Given the description of an element on the screen output the (x, y) to click on. 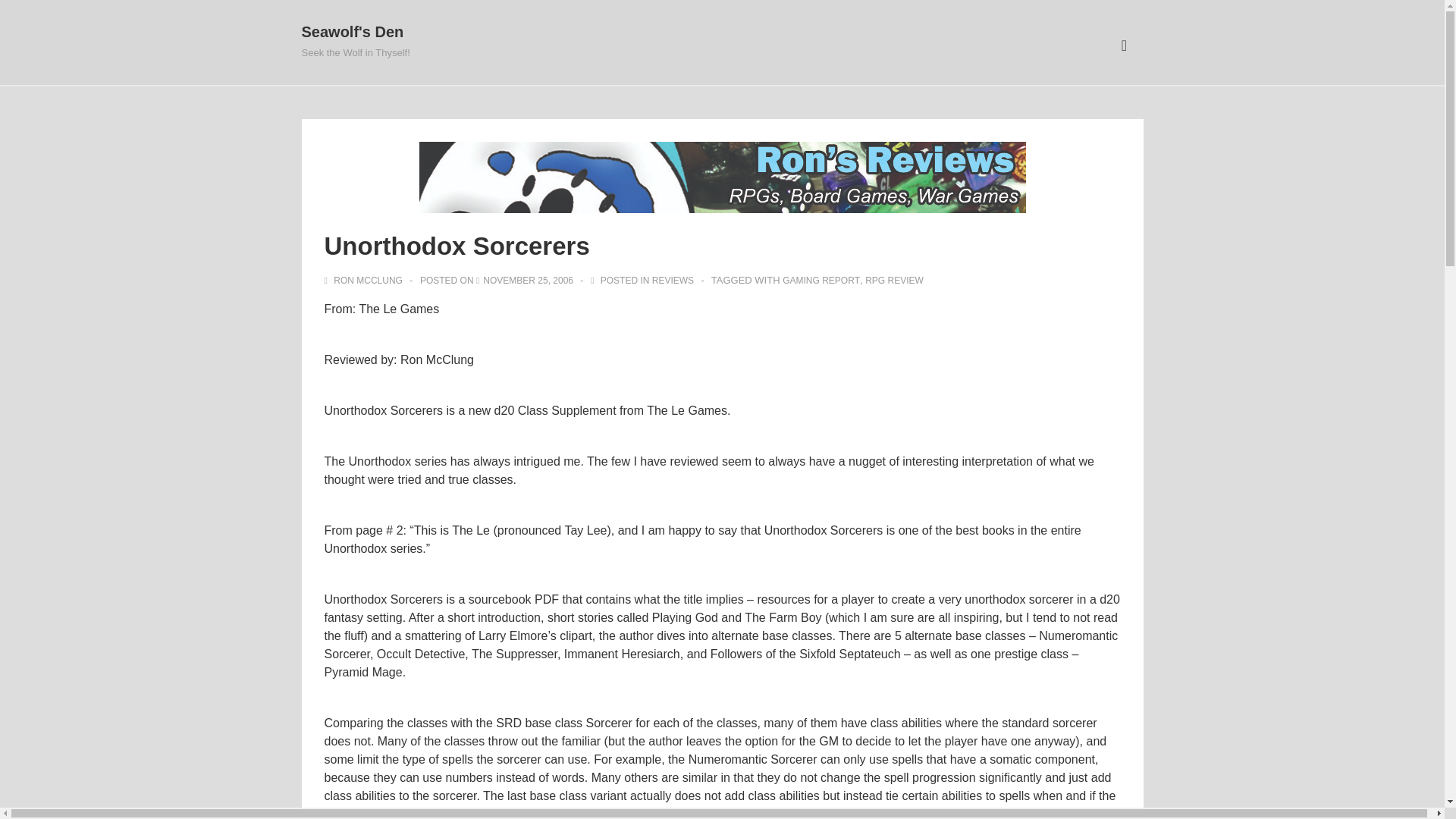
Unorthodox Sorcerers (528, 280)
MENU (1123, 45)
RON MCCLUNG (365, 280)
Seawolf's Den (352, 31)
View all posts by Ron McClung (365, 280)
